Given the description of an element on the screen output the (x, y) to click on. 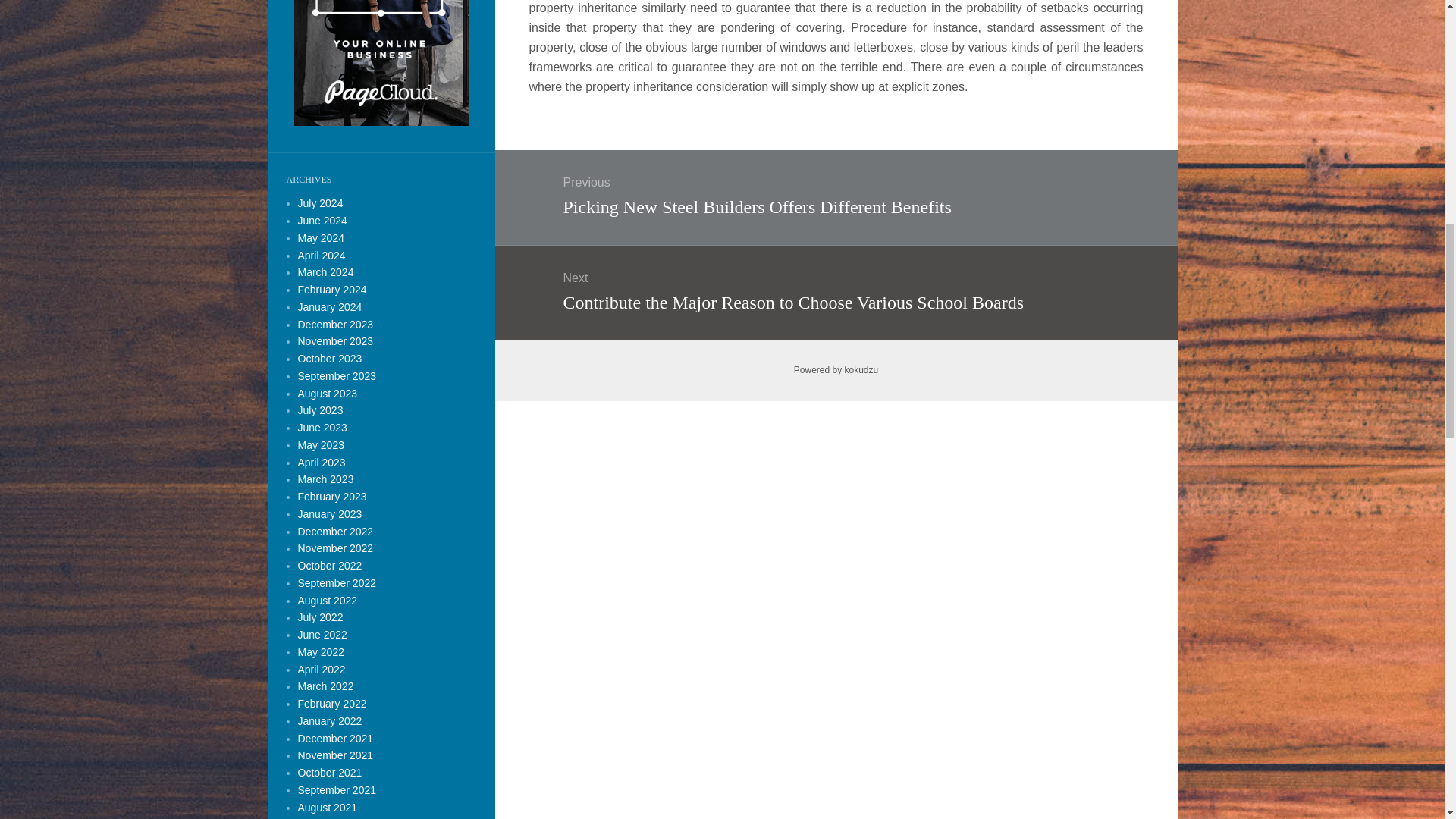
April 2023 (321, 462)
October 2022 (329, 565)
June 2023 (321, 427)
September 2022 (336, 582)
March 2023 (325, 479)
May 2024 (320, 237)
July 2024 (319, 203)
December 2022 (334, 530)
February 2023 (331, 496)
March 2022 (325, 686)
August 2023 (326, 392)
July 2023 (319, 410)
November 2022 (334, 548)
May 2023 (320, 444)
June 2022 (321, 634)
